Given the description of an element on the screen output the (x, y) to click on. 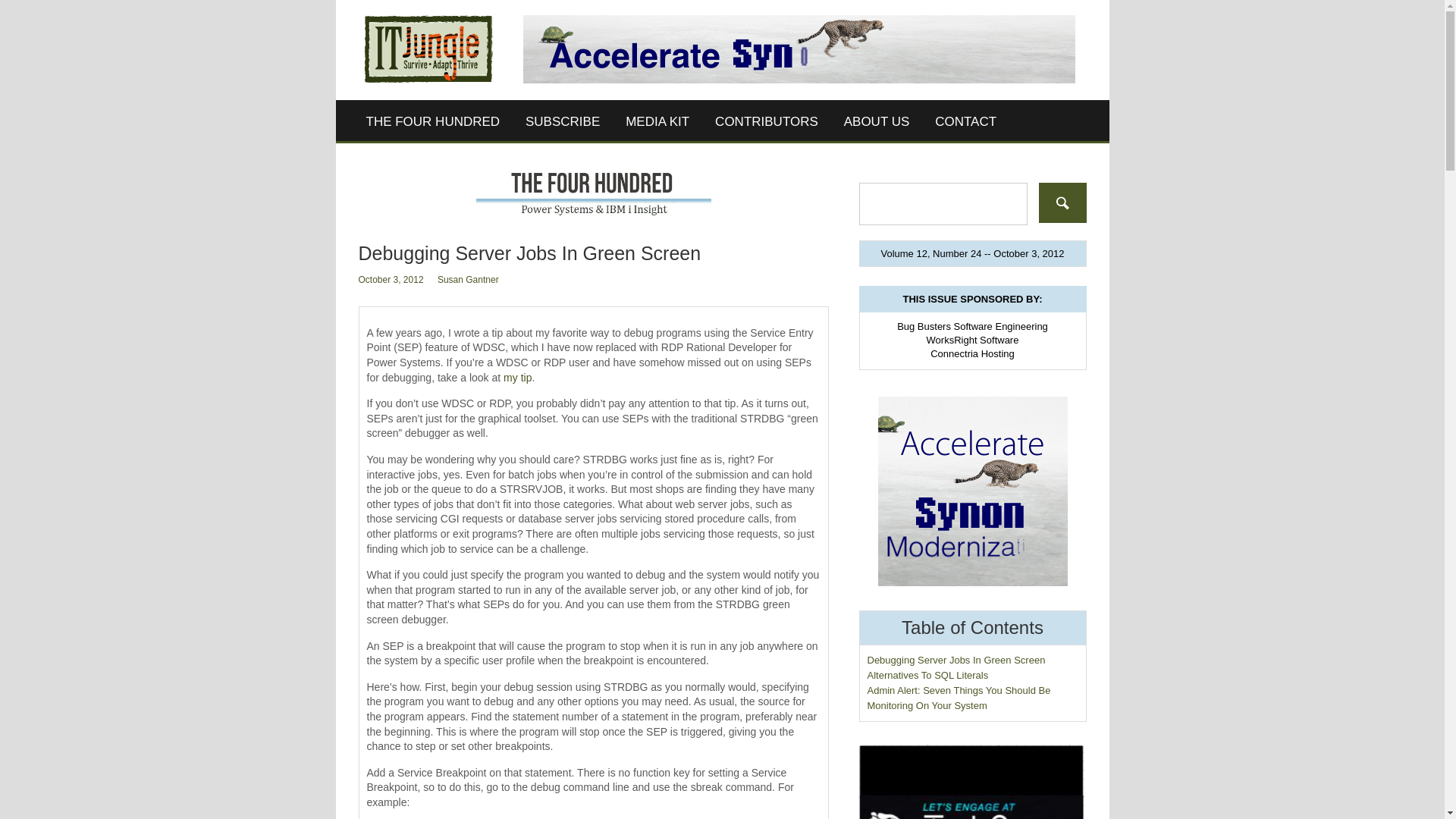
CONTRIBUTORS (766, 121)
CONTACT (965, 121)
SUBSCRIBE (562, 121)
Search (1062, 202)
MEDIA KIT (657, 121)
THE FOUR HUNDRED (433, 121)
my tip (517, 377)
ABOUT US (876, 121)
